Given the description of an element on the screen output the (x, y) to click on. 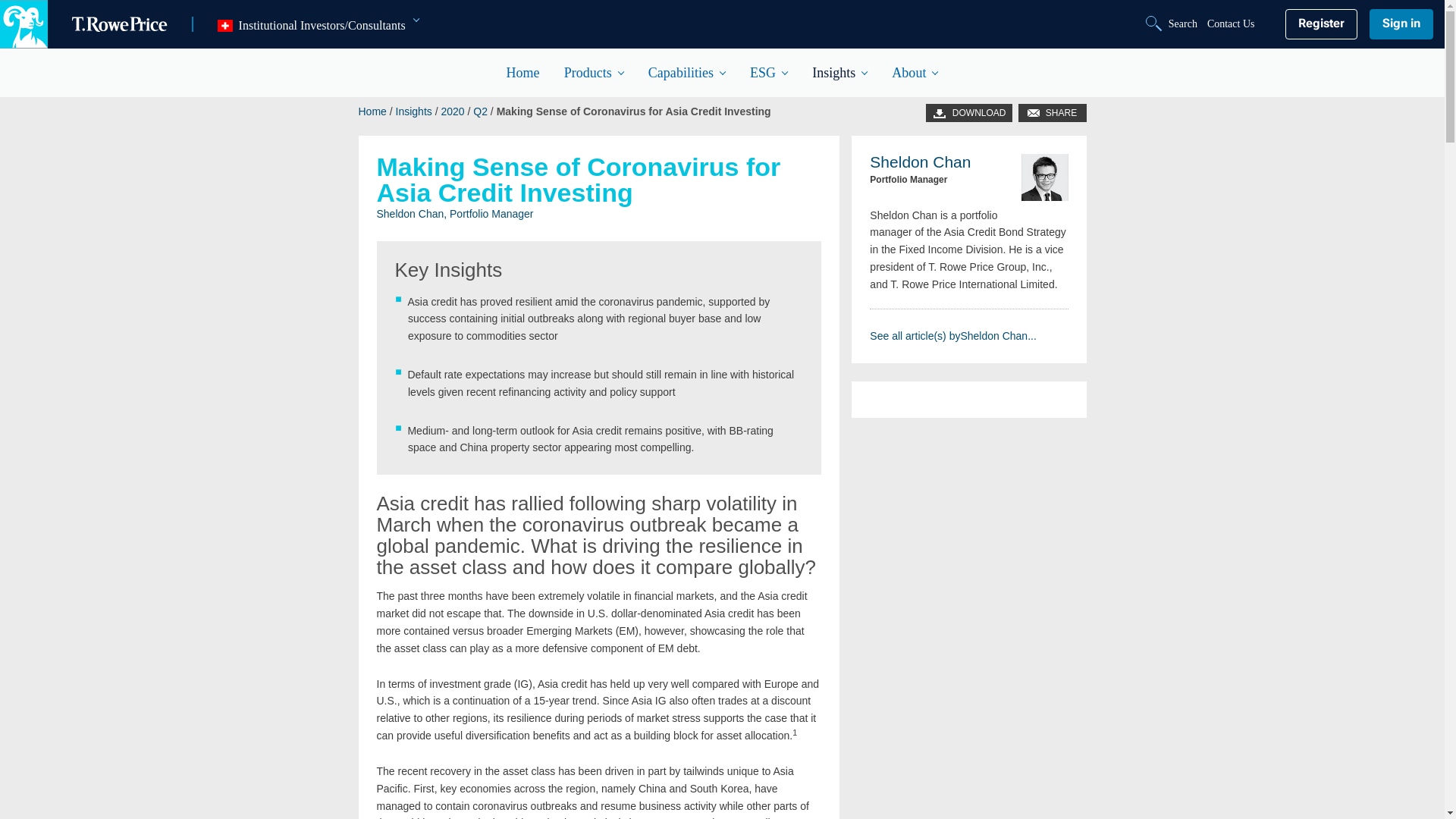
Contact Us (1231, 24)
Sign in (1401, 24)
Search (1173, 24)
Register (1320, 24)
